Given the description of an element on the screen output the (x, y) to click on. 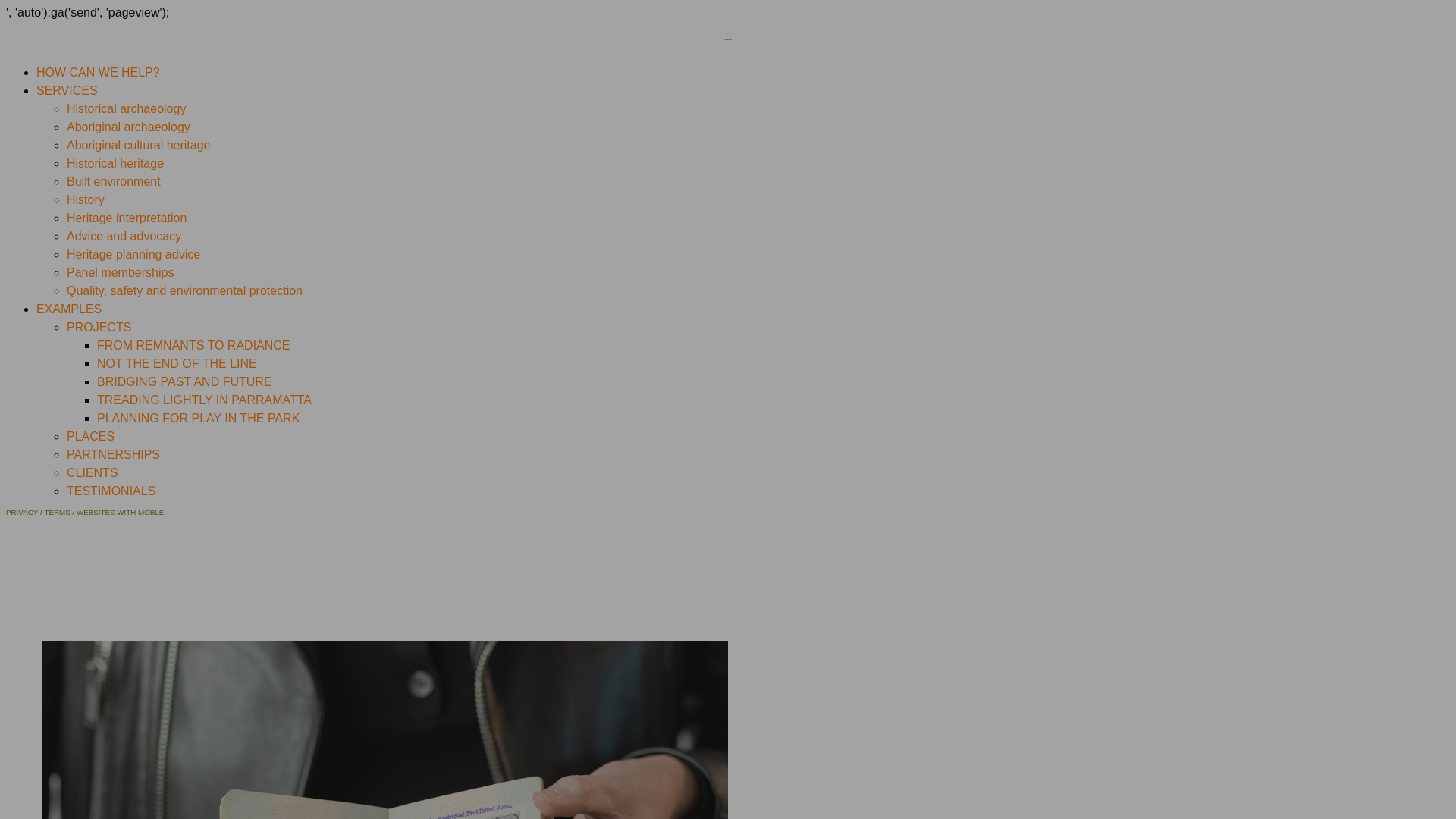
TREADING LIGHTLY IN PARRAMATTA Element type: text (204, 399)
EXAMPLES Element type: text (68, 308)
SERVICES Element type: text (66, 90)
Quality, safety and environmental protection Element type: text (184, 290)
Aboriginal cultural heritage Element type: text (138, 144)
PLACES Element type: text (90, 435)
BRIDGING PAST AND FUTURE Element type: text (184, 381)
Built environment Element type: text (113, 181)
PARTNERSHIPS Element type: text (113, 454)
FROM REMNANTS TO RADIANCE Element type: text (193, 344)
NOT THE END OF THE LINE Element type: text (177, 363)
Aboriginal archaeology Element type: text (128, 126)
PRIVACY Element type: text (21, 512)
PROJECTS Element type: text (98, 326)
Advice and advocacy Element type: text (123, 235)
HOW CAN WE HELP? Element type: text (98, 71)
TESTIMONIALS Element type: text (110, 490)
PLANNING FOR PLAY IN THE PARK Element type: text (198, 417)
WEBSITES WITH MOBLE Element type: text (119, 512)
Heritage planning advice Element type: text (133, 253)
History Element type: text (85, 199)
Historical heritage Element type: text (114, 162)
Panel memberships Element type: text (119, 272)
Historical archaeology Element type: text (125, 108)
CLIENTS Element type: text (92, 472)
TERMS Element type: text (56, 512)
Heritage interpretation Element type: text (126, 217)
